Given the description of an element on the screen output the (x, y) to click on. 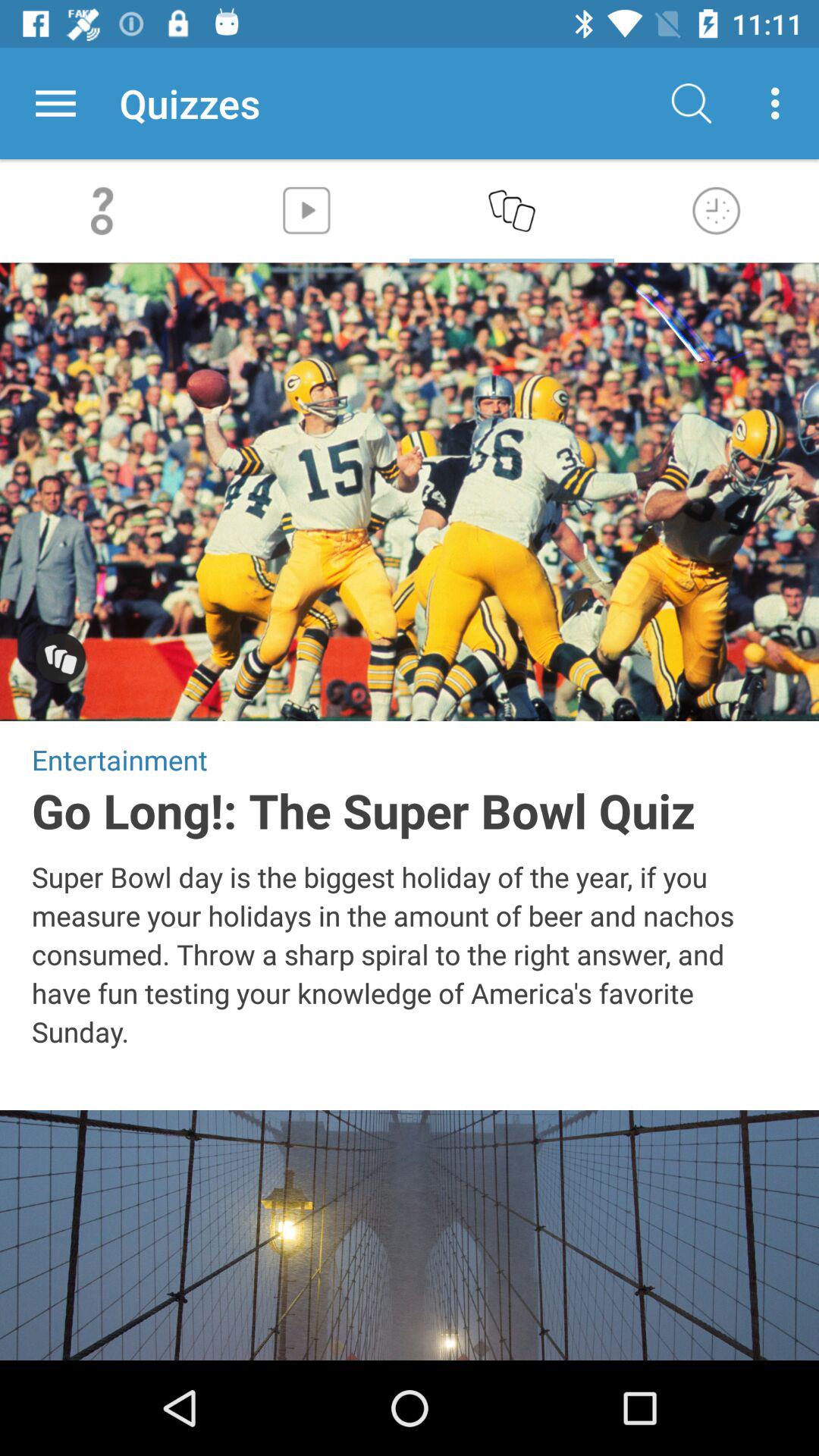
drop-down menu (55, 103)
